Given the description of an element on the screen output the (x, y) to click on. 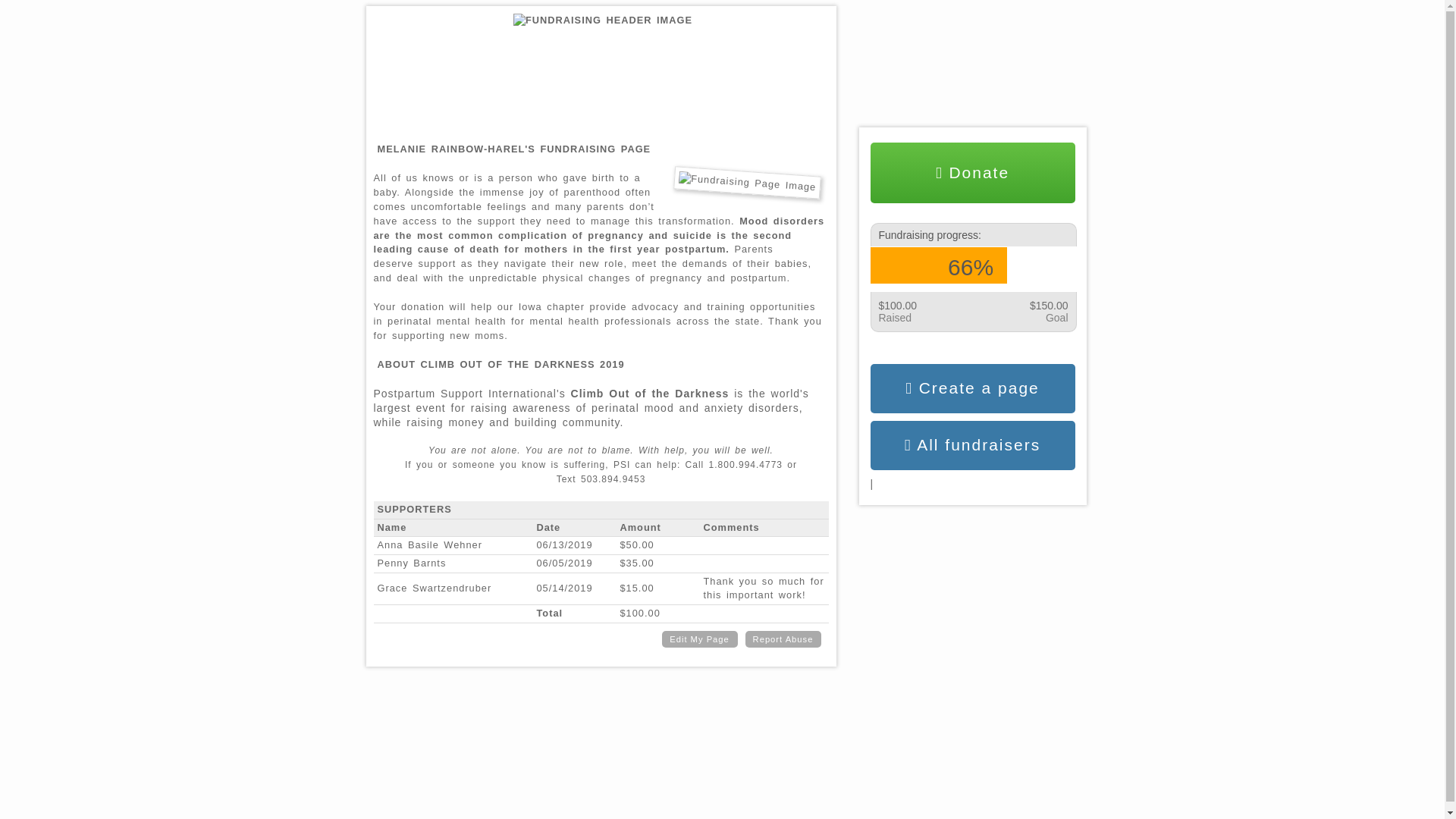
Edit My Page (698, 638)
Create a page (972, 388)
Report Abuse (782, 638)
Donate (972, 172)
All fundraisers (972, 445)
